Given the description of an element on the screen output the (x, y) to click on. 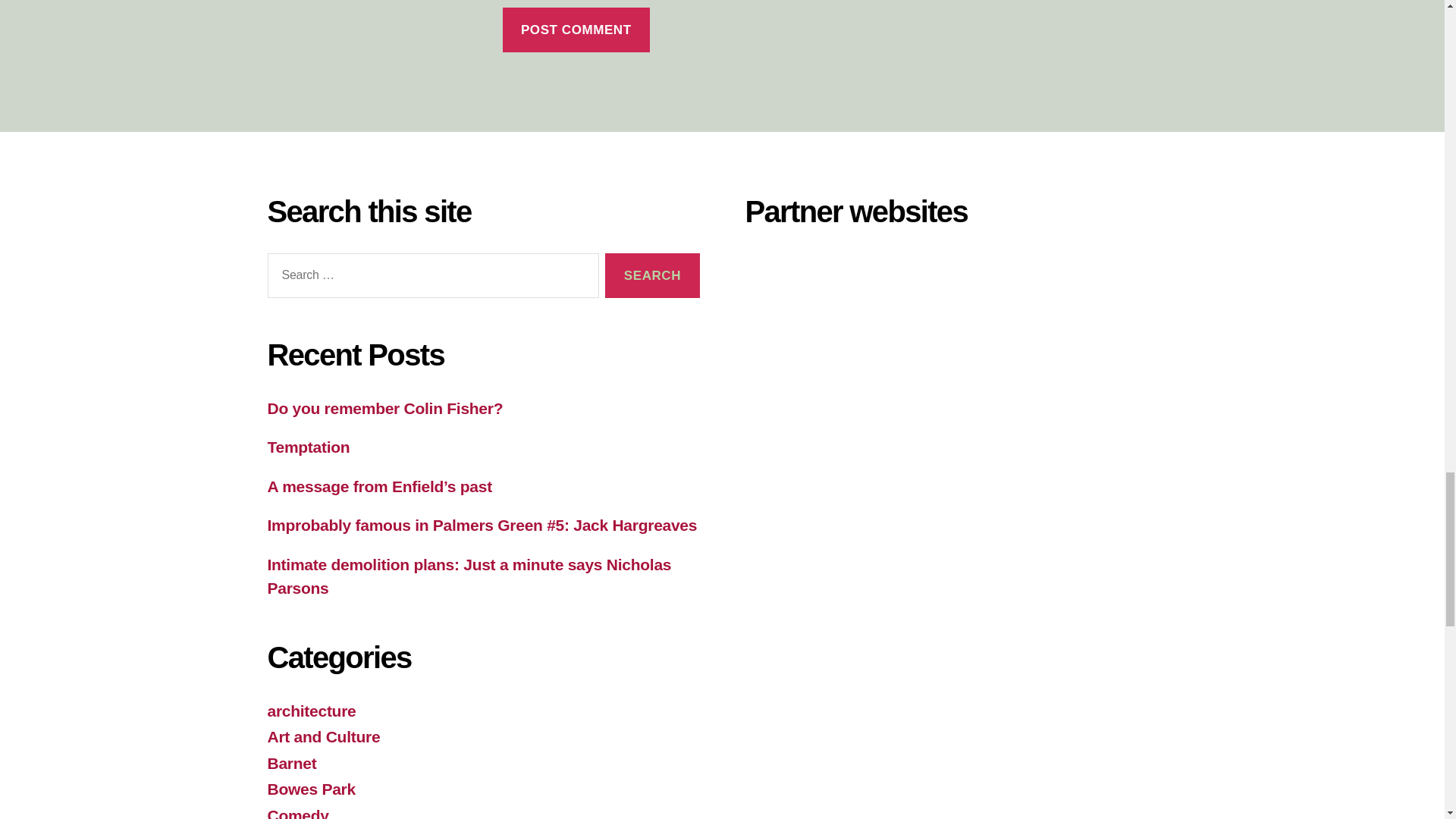
Search (651, 275)
Post Comment (575, 29)
Search (651, 275)
